Given the description of an element on the screen output the (x, y) to click on. 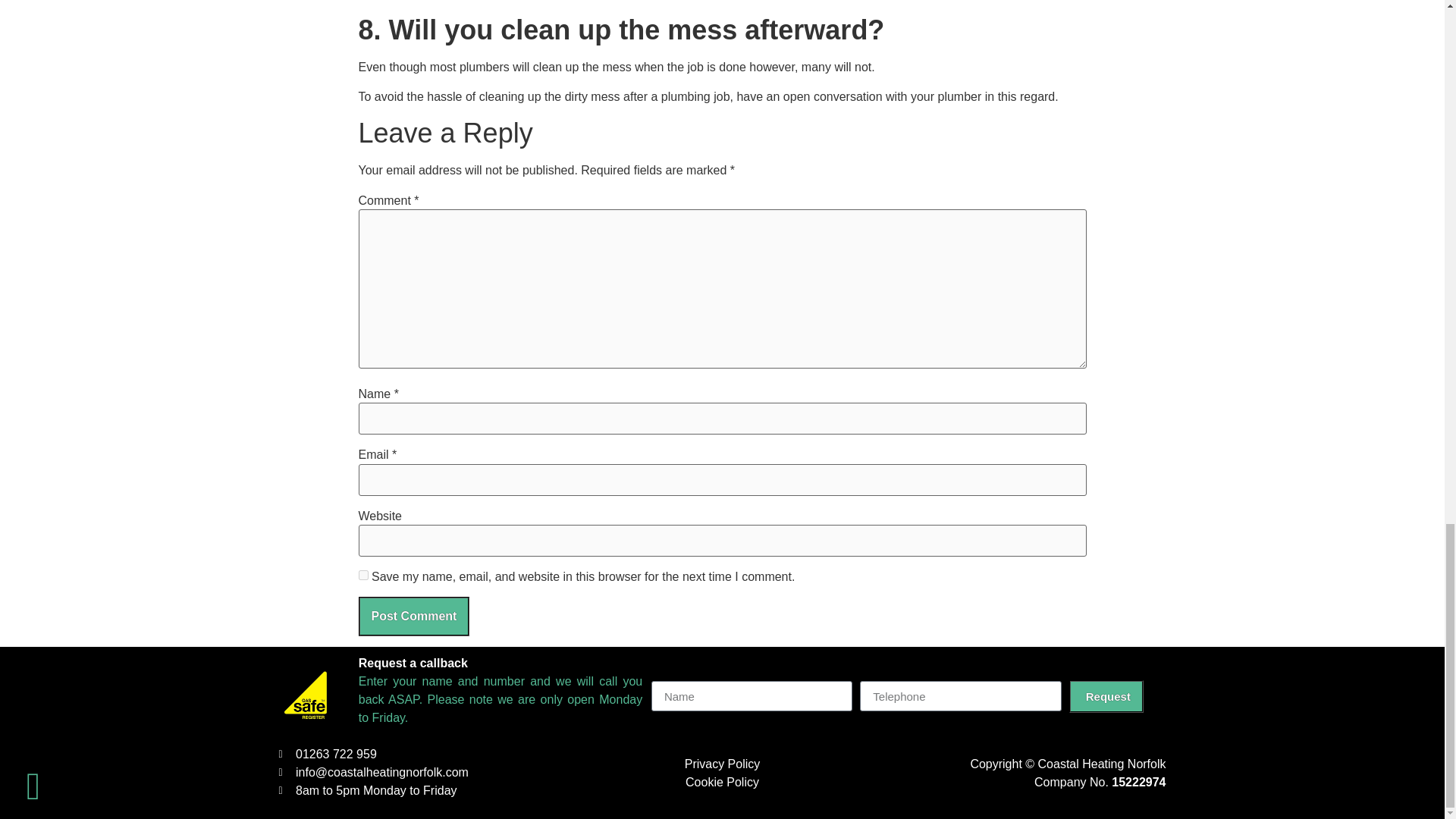
Cookie Policy (721, 781)
01263 722 959 (411, 754)
Post Comment (413, 616)
Privacy Policy (722, 763)
Request (1105, 696)
Post Comment (413, 616)
yes (363, 574)
